Given the description of an element on the screen output the (x, y) to click on. 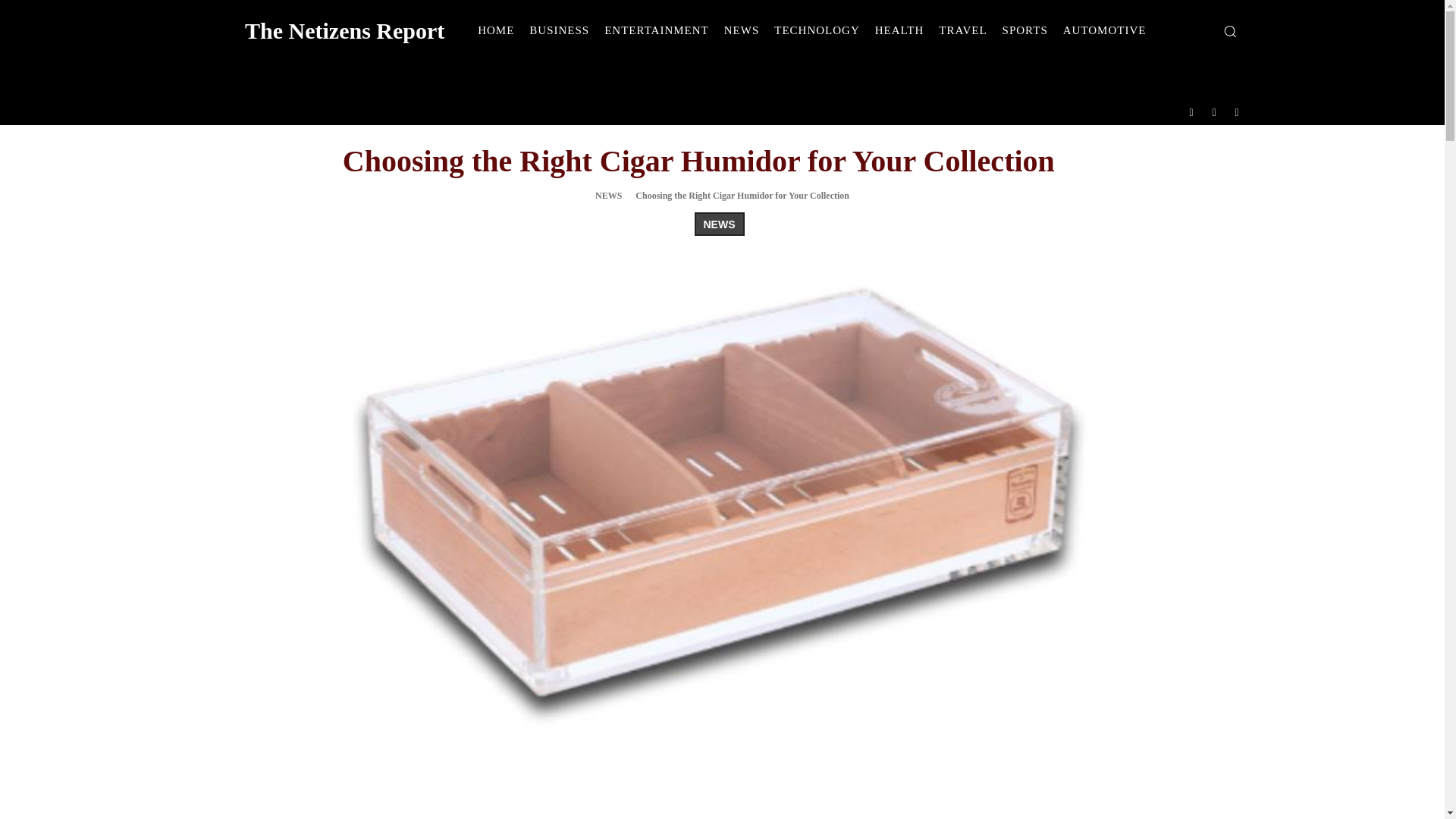
Twitter (1237, 111)
NEWS (608, 195)
HEALTH (899, 30)
The Netizens Report (318, 29)
HOME (495, 30)
View all posts in NEWS (608, 195)
TRAVEL (962, 30)
NEWS (741, 30)
AUTOMOTIVE (1104, 30)
ENTERTAINMENT (656, 30)
Facebook (1191, 111)
TECHNOLOGY (817, 30)
SPORTS (1024, 30)
BUSINESS (558, 30)
NEWS (719, 223)
